Given the description of an element on the screen output the (x, y) to click on. 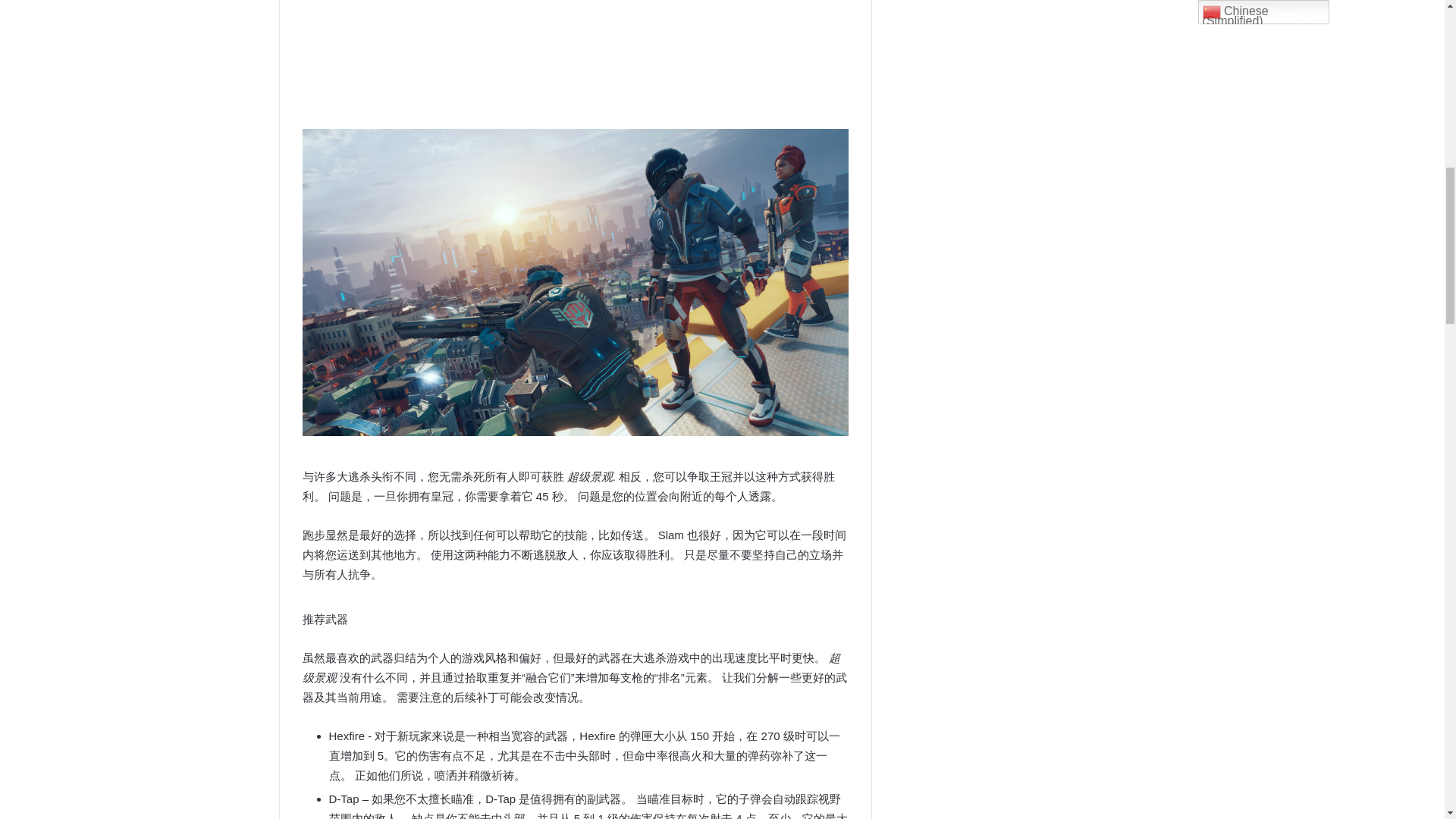
Advertisement (589, 52)
